Given the description of an element on the screen output the (x, y) to click on. 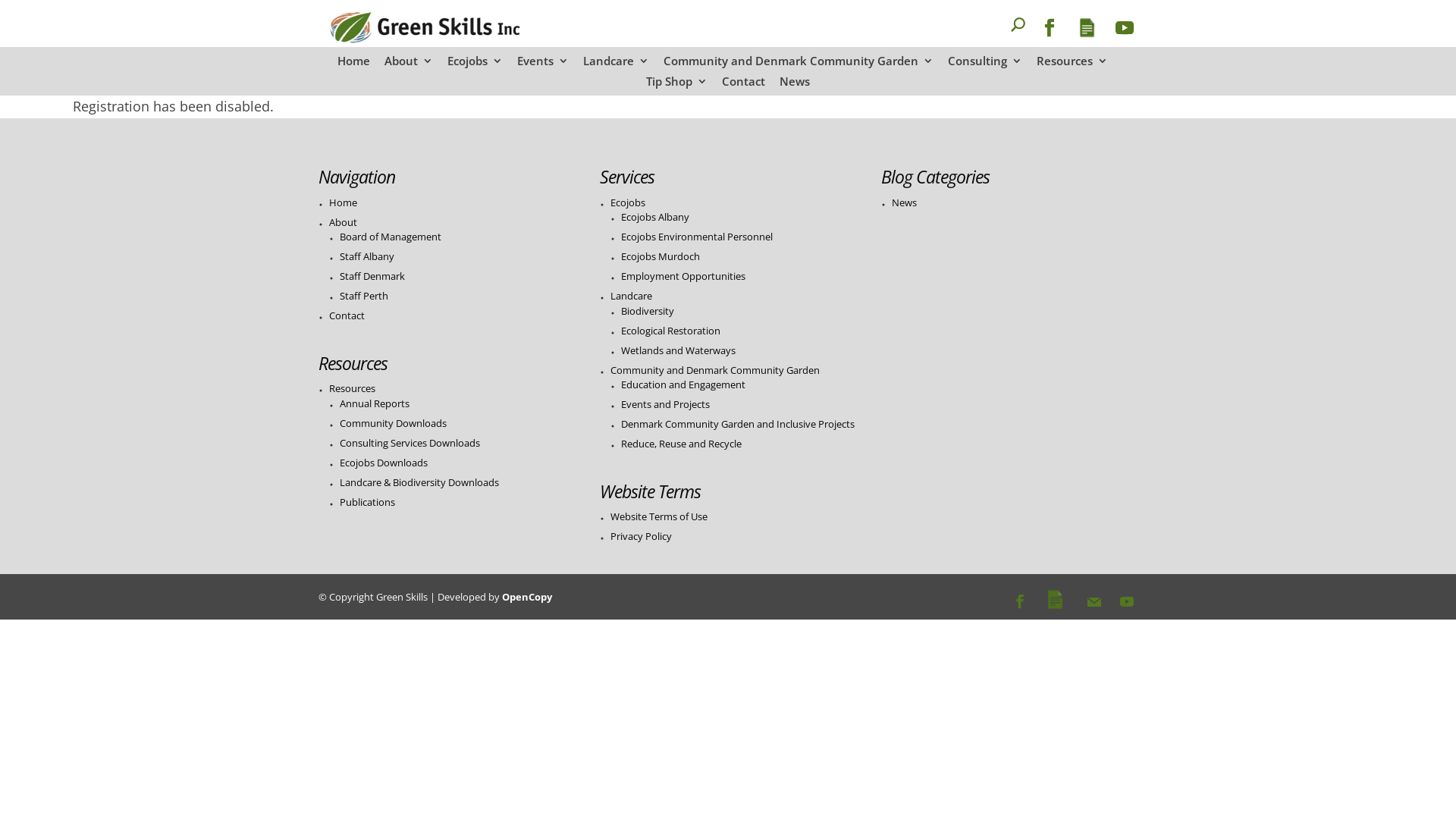
  Element type: text (992, 32)
Events Element type: text (542, 65)
Reduce, Reuse and Recycle Element type: text (681, 443)
Contact Element type: text (346, 315)
Wetlands and Waterways Element type: text (678, 350)
Community Downloads Element type: text (392, 422)
Ecojobs Murdoch Element type: text (660, 256)
Ecological Restoration Element type: text (670, 330)
Resources Element type: text (1071, 65)
Contact Element type: text (743, 85)
Annual Reports Element type: text (374, 403)
About Element type: text (343, 222)
Ecojobs Element type: text (627, 202)
Resources Element type: text (352, 388)
News Element type: text (794, 85)
About Element type: text (407, 65)
Home Element type: text (343, 202)
Education and Engagement Element type: text (683, 384)
Community and Denmark Community Garden Element type: text (797, 65)
Website Terms of Use Element type: text (658, 516)
Biodiversity Element type: text (647, 310)
Ecojobs Downloads Element type: text (383, 462)
Staff Denmark Element type: text (371, 275)
Staff Albany Element type: text (366, 256)
News Element type: text (903, 202)
Landcare Element type: text (615, 65)
Denmark Community Garden and Inclusive Projects Element type: text (737, 423)
Landcare & Biodiversity Downloads Element type: text (418, 482)
OpenCopy Element type: text (527, 596)
Home Element type: text (352, 65)
Privacy Policy Element type: text (640, 535)
Consulting Element type: text (984, 65)
Publications Element type: text (367, 501)
Ecojobs Environmental Personnel Element type: text (696, 236)
Tip Shop Element type: text (676, 85)
Ecojobs Element type: text (474, 65)
Community and Denmark Community Garden Element type: text (714, 369)
Landcare Element type: text (631, 295)
Consulting Services Downloads Element type: text (409, 442)
Employment Opportunities Element type: text (683, 275)
Events and Projects Element type: text (665, 404)
Board of Management Element type: text (390, 236)
Staff Perth Element type: text (363, 295)
Ecojobs Albany Element type: text (655, 216)
